Given the description of an element on the screen output the (x, y) to click on. 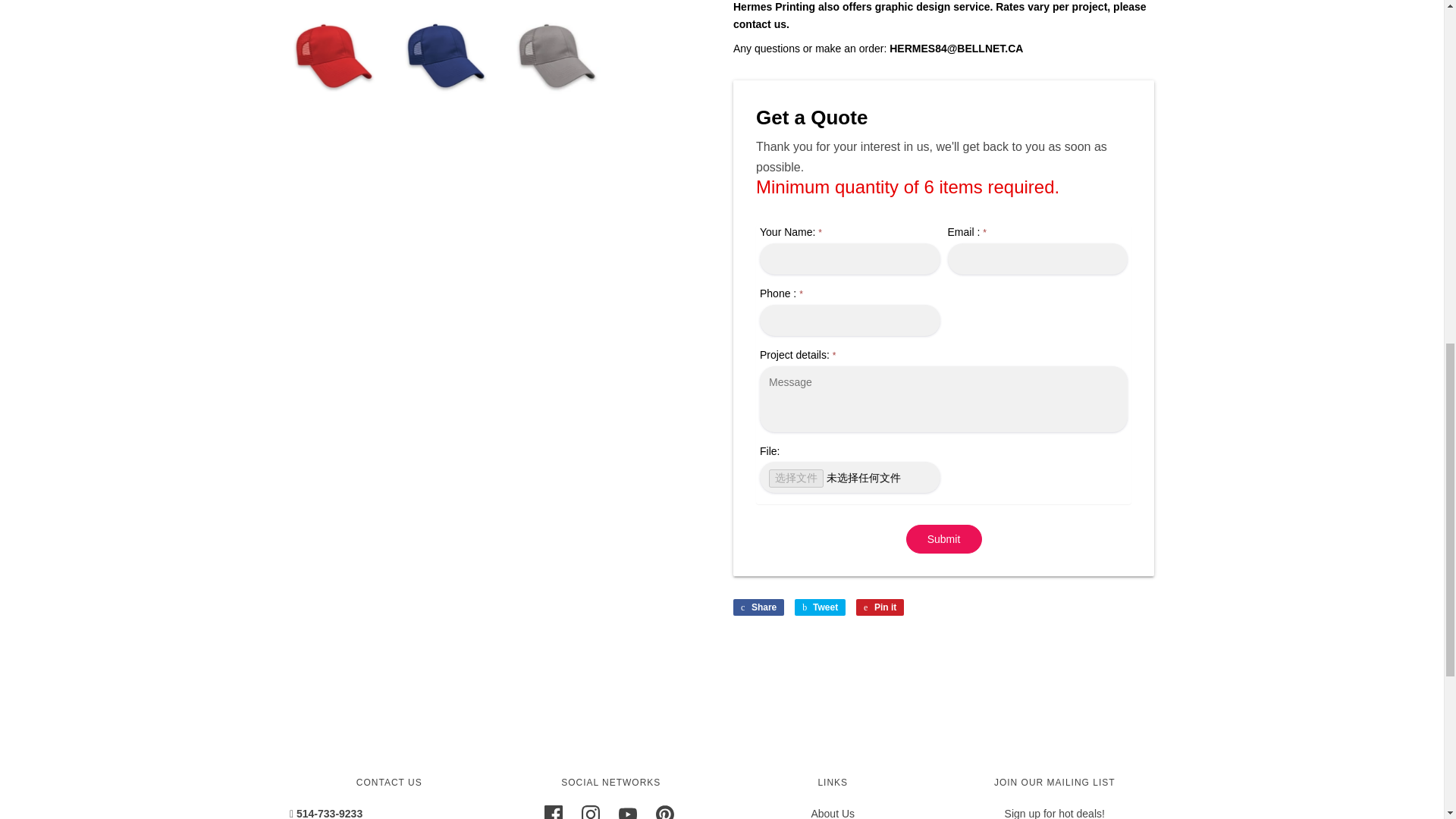
Customized Embroidered Cap with trucker mesh back DML (333, 55)
Customized Embroidered Cap with trucker mesh back DML (554, 55)
Instagram icon (589, 812)
Pinterest icon (665, 812)
Facebook icon (553, 812)
Customized Embroidered Cap with trucker mesh back DML (443, 55)
YouTube icon (627, 812)
